Given the description of an element on the screen output the (x, y) to click on. 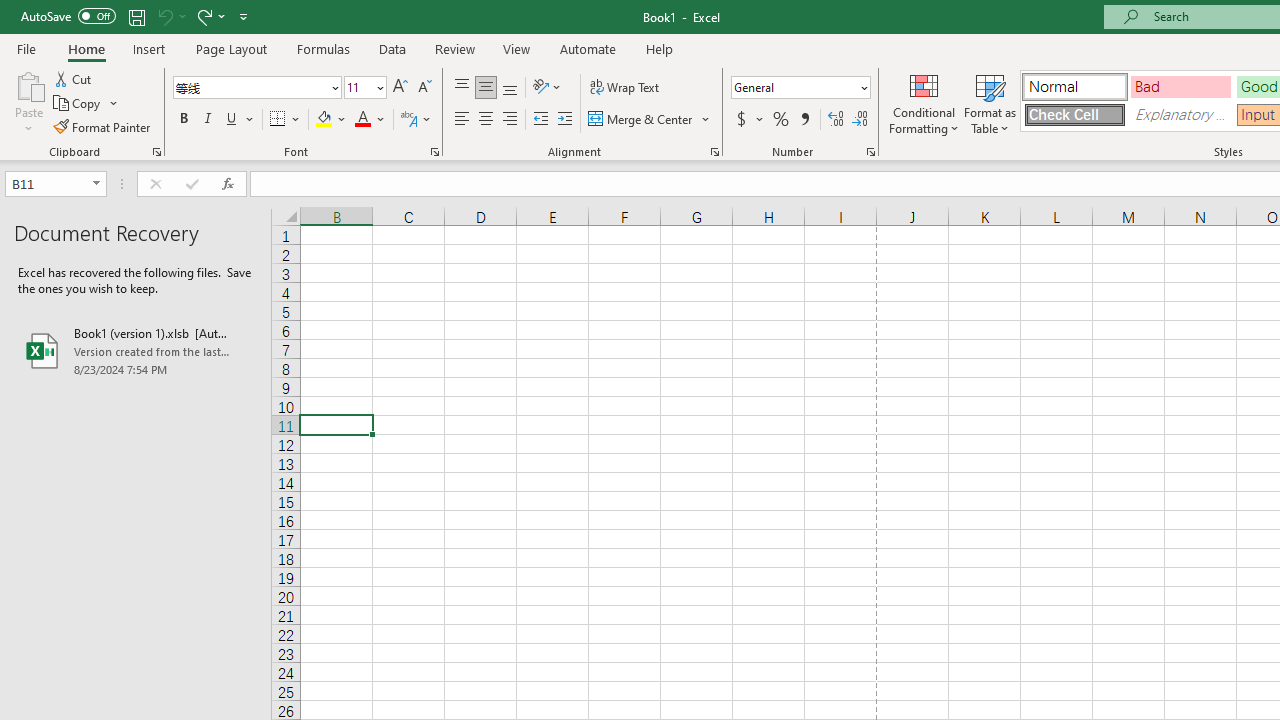
Format Cell Number (870, 151)
Increase Indent (565, 119)
Increase Font Size (399, 87)
Paste (28, 102)
Number Format (794, 87)
